Given the description of an element on the screen output the (x, y) to click on. 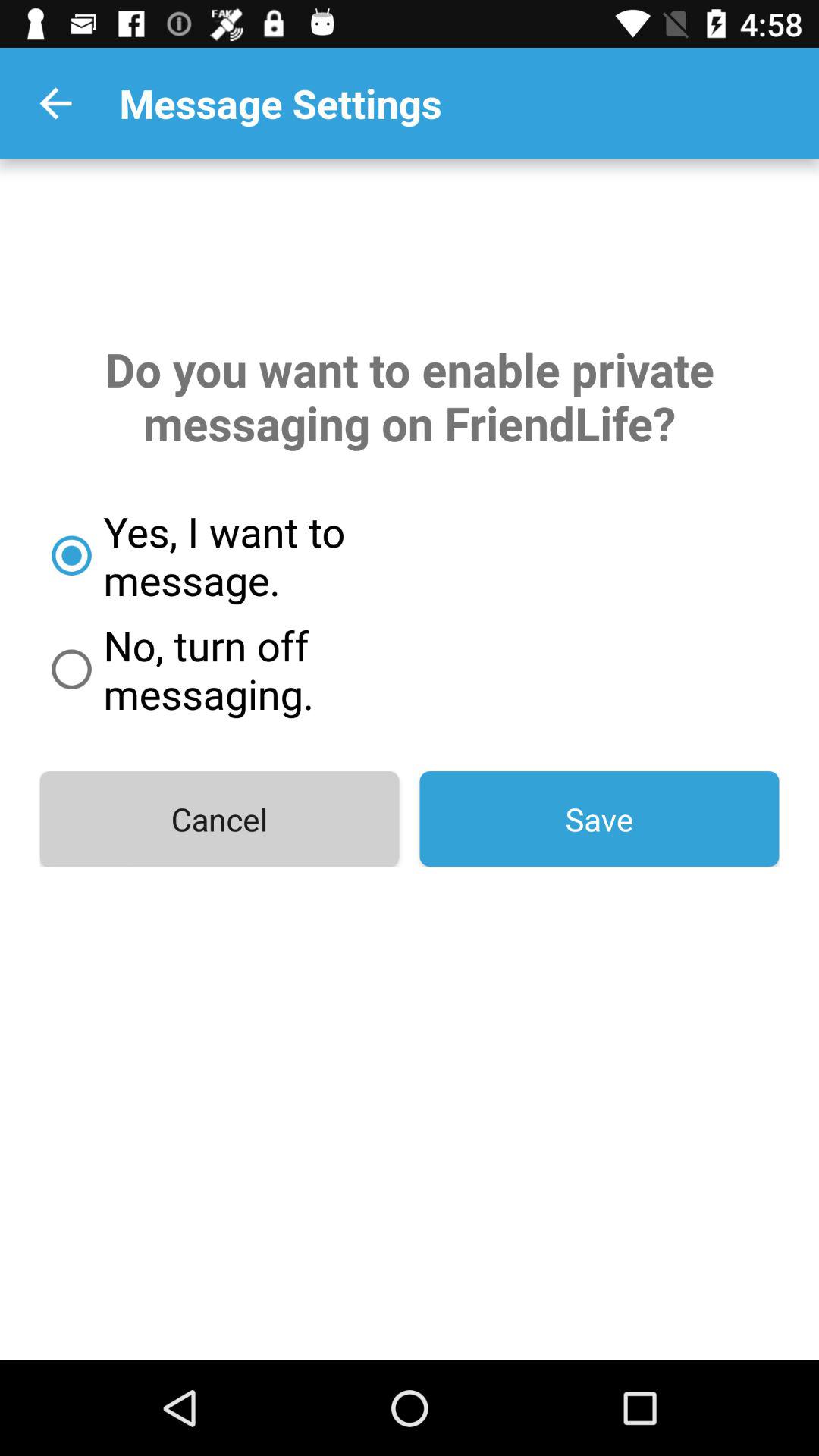
turn off the yes i want item (278, 555)
